Given the description of an element on the screen output the (x, y) to click on. 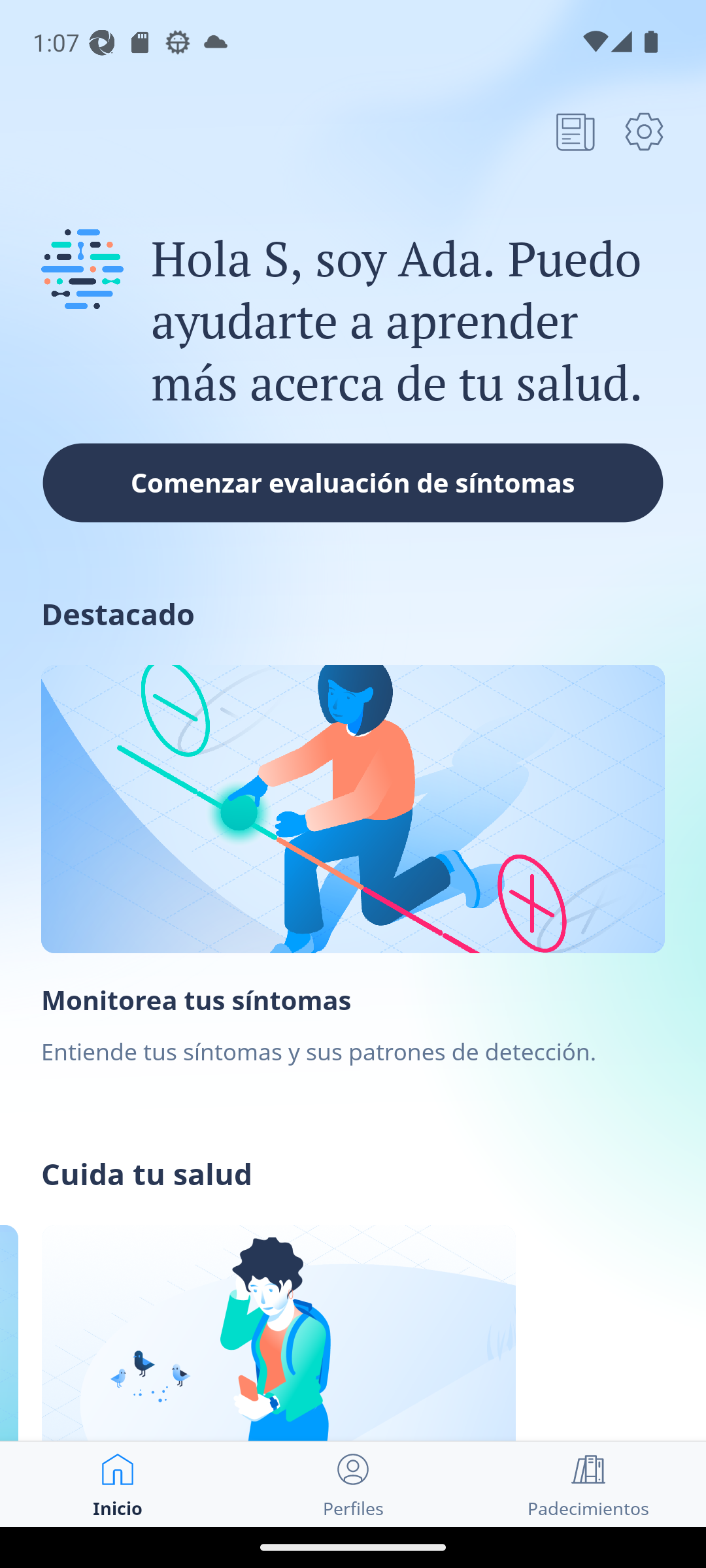
article icon , open articles (574, 131)
settings icon, open settings (644, 131)
Comenzar evaluación de síntomas (352, 482)
Inicio (117, 1484)
Perfiles (352, 1484)
Padecimientos (588, 1484)
